Given the description of an element on the screen output the (x, y) to click on. 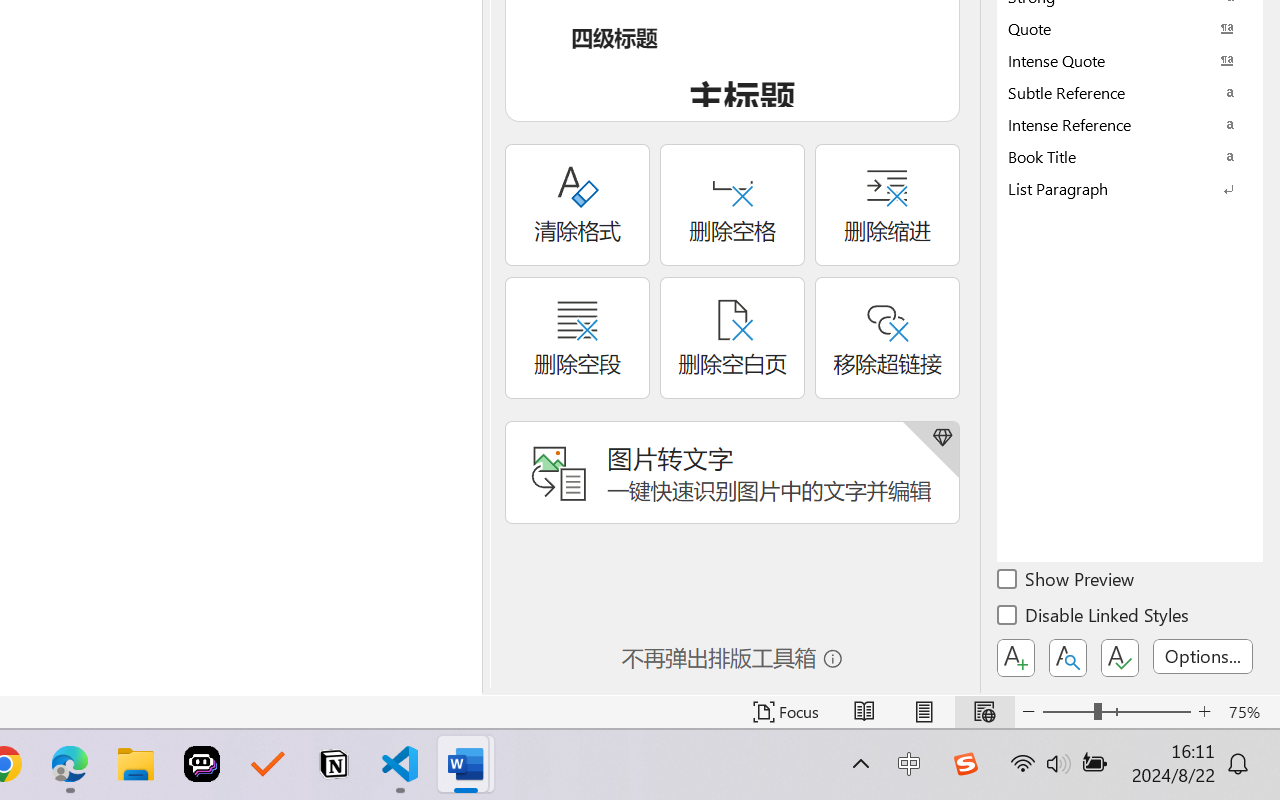
Intense Quote (1130, 60)
Subtle Reference (1130, 92)
Show Preview (1067, 582)
